Given the description of an element on the screen output the (x, y) to click on. 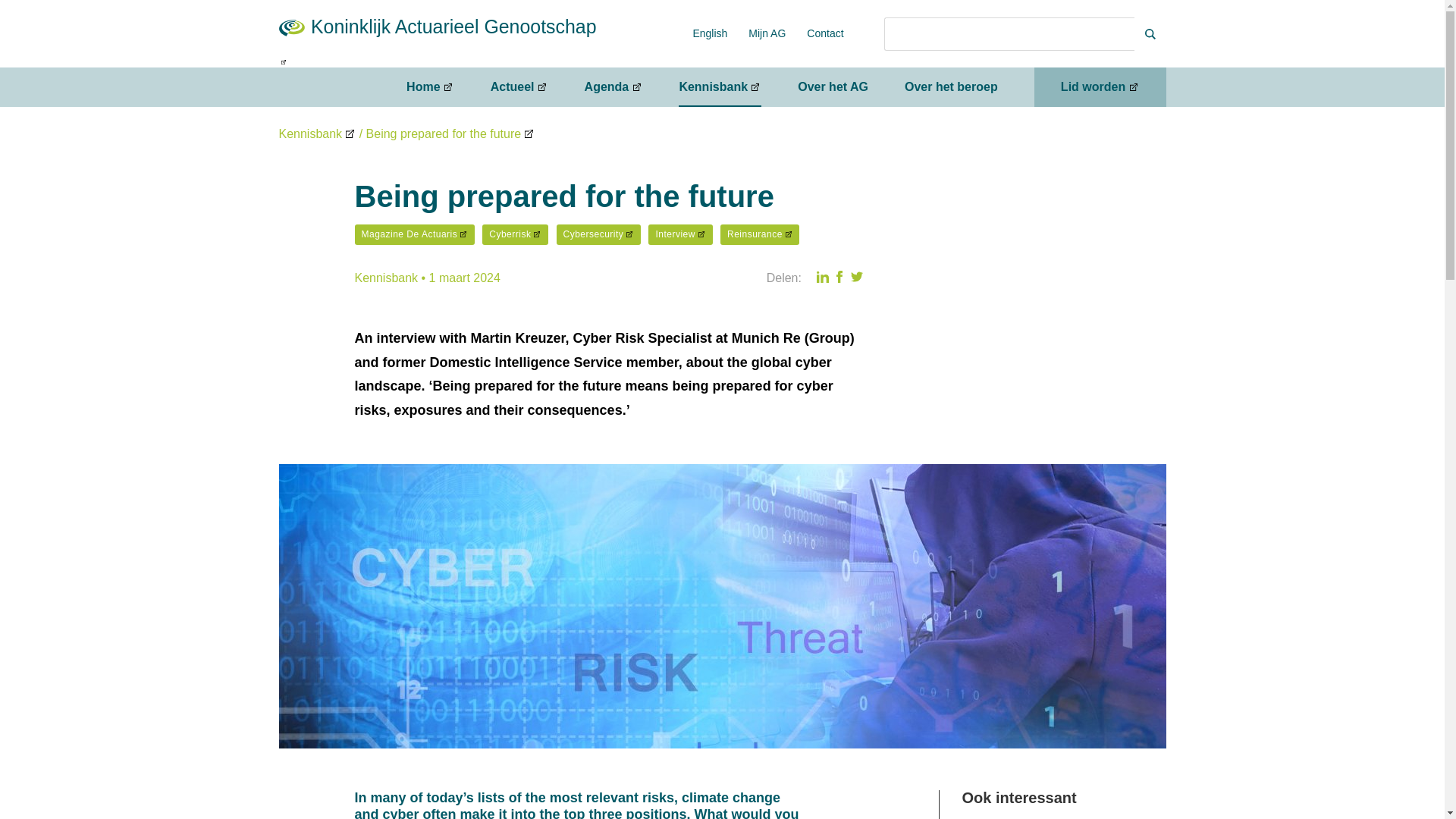
Cyberrisk (514, 234)
Agenda (614, 86)
Magazine De Actuaris (414, 234)
Kennisbank (317, 133)
Actueel (519, 86)
Over het AG (832, 86)
Over het beroep (950, 86)
Mijn AG (767, 33)
Zoeken (1008, 33)
Home (430, 86)
